Given the description of an element on the screen output the (x, y) to click on. 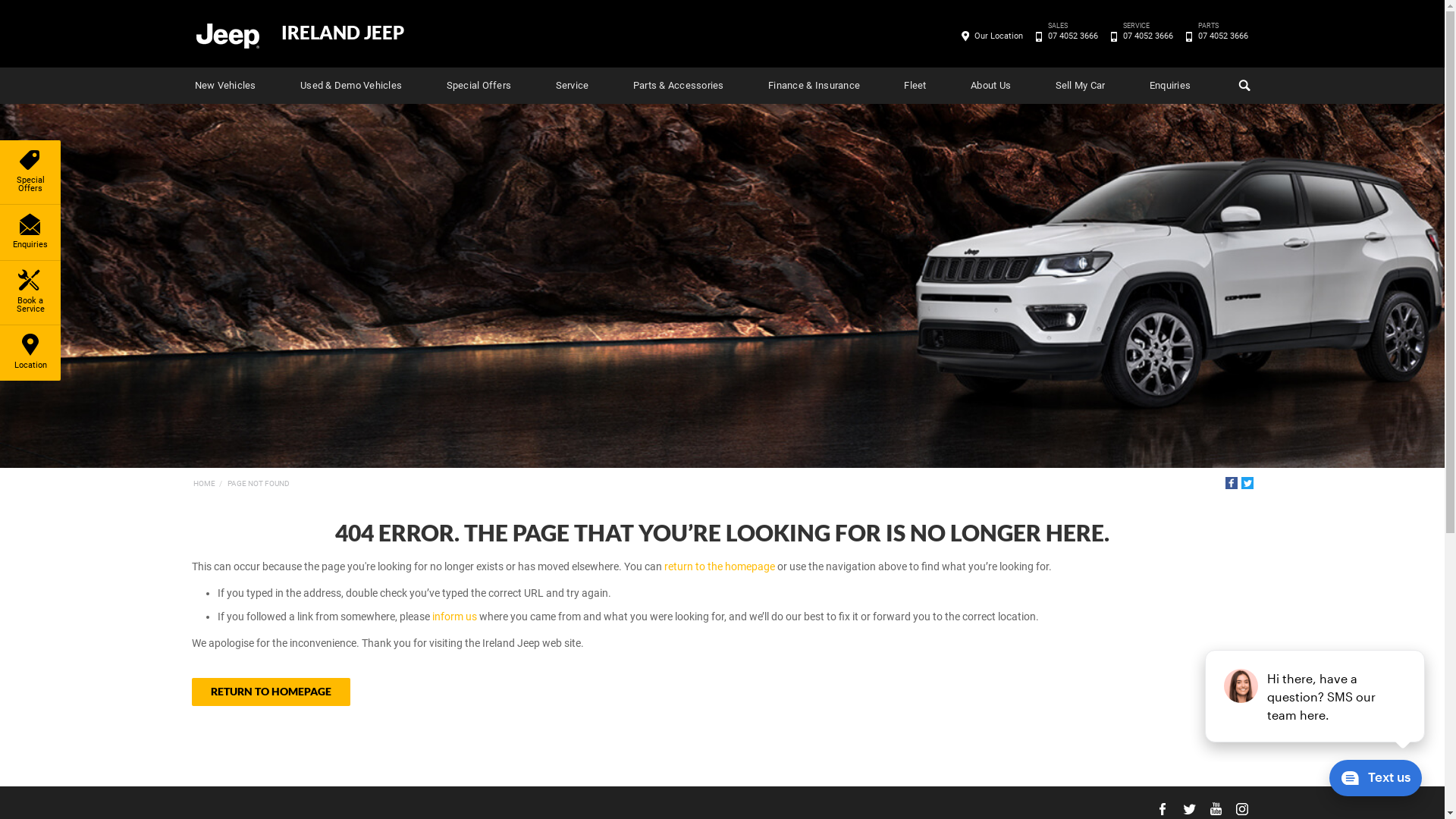
Ireland Jeep Element type: hover (226, 34)
SERVICE
07 4052 3666 Element type: text (1147, 35)
HOME Element type: text (203, 483)
PARTS
07 4052 3666 Element type: text (1222, 35)
Book a Service Element type: text (30, 292)
New Vehicles Element type: text (224, 85)
return to the homepage Element type: text (719, 566)
Enquiries Element type: text (30, 232)
Service Element type: text (572, 85)
Fleet Element type: text (914, 85)
Our Location Element type: text (998, 35)
Finance & Insurance Element type: text (813, 85)
Parts & Accessories Element type: text (678, 85)
SALES
07 4052 3666 Element type: text (1071, 35)
RETURN TO HOMEPAGE Element type: text (270, 691)
IRELAND JEEP Element type: text (341, 32)
Search Element type: text (1242, 85)
Enquiries Element type: text (1169, 85)
Twitter Element type: hover (1246, 482)
inform us Element type: text (454, 616)
Used & Demo Vehicles Element type: text (350, 85)
About Us Element type: text (990, 85)
Special Offers Element type: text (30, 171)
Sell My Car Element type: text (1080, 85)
Special Offers Element type: text (478, 85)
Location Element type: text (30, 352)
podium webchat widget prompt Element type: hover (1315, 696)
Facebook Element type: hover (1231, 482)
